Given the description of an element on the screen output the (x, y) to click on. 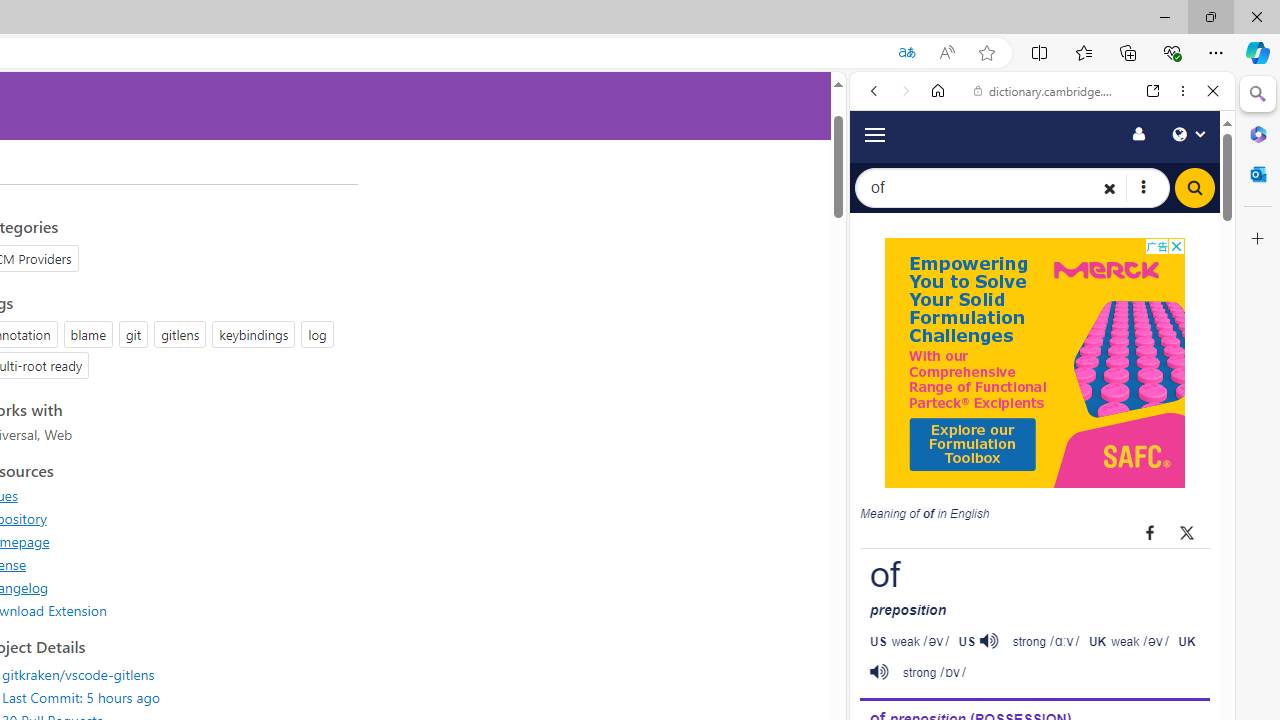
Cambridge Dictionary (1034, 698)
Preferences (1189, 337)
Close autocomplete (1034, 136)
SEARCH TOOLS (1093, 339)
Share on Facebook (1149, 532)
Web scope (882, 180)
Search Filter, IMAGES (939, 339)
Search Filter, VIDEOS (1006, 339)
Share on X (1186, 532)
